Given the description of an element on the screen output the (x, y) to click on. 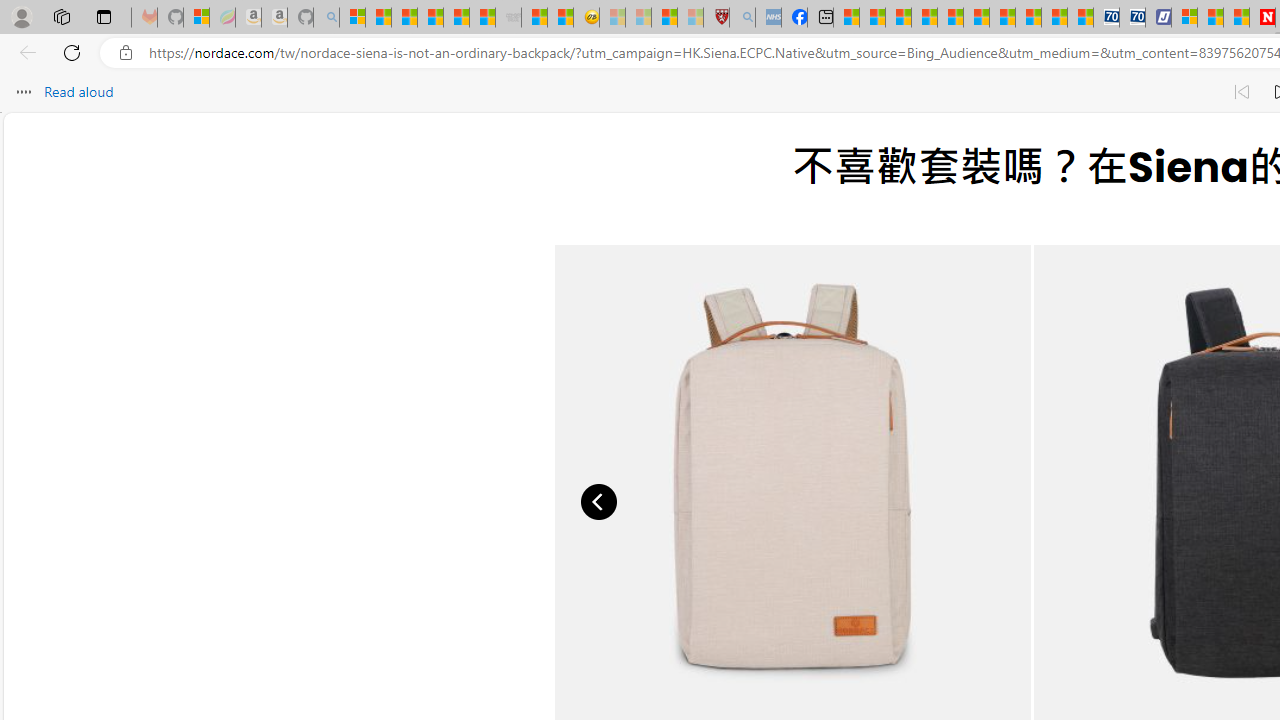
Tab actions menu (104, 16)
Back (24, 52)
World - MSN (898, 17)
Personal Profile (21, 16)
Class: flickity-button-icon (599, 502)
Climate Damage Becomes Too Severe To Reverse (923, 17)
Cheap Hotels - Save70.com (1132, 17)
Previous (599, 501)
The Weather Channel - MSN (404, 17)
